Given the description of an element on the screen output the (x, y) to click on. 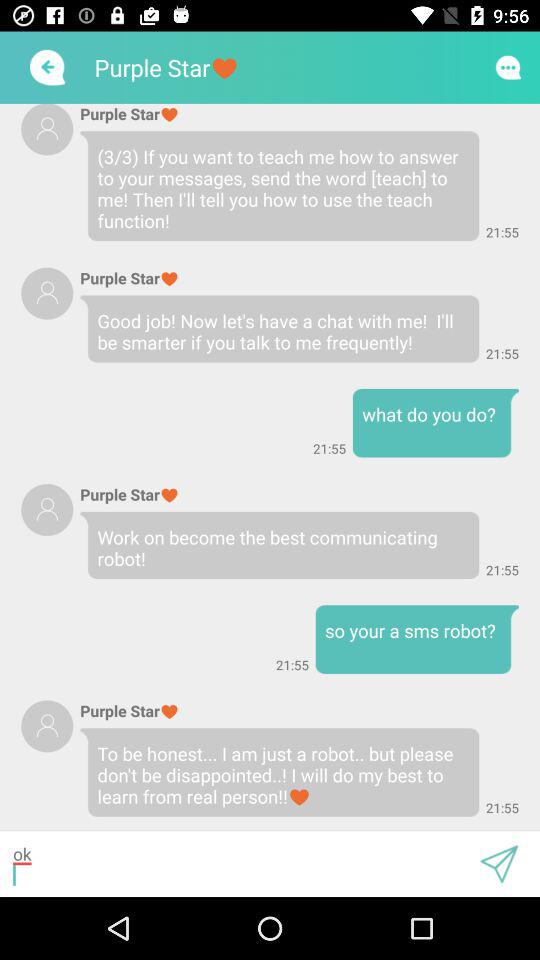
chat options (508, 67)
